Given the description of an element on the screen output the (x, y) to click on. 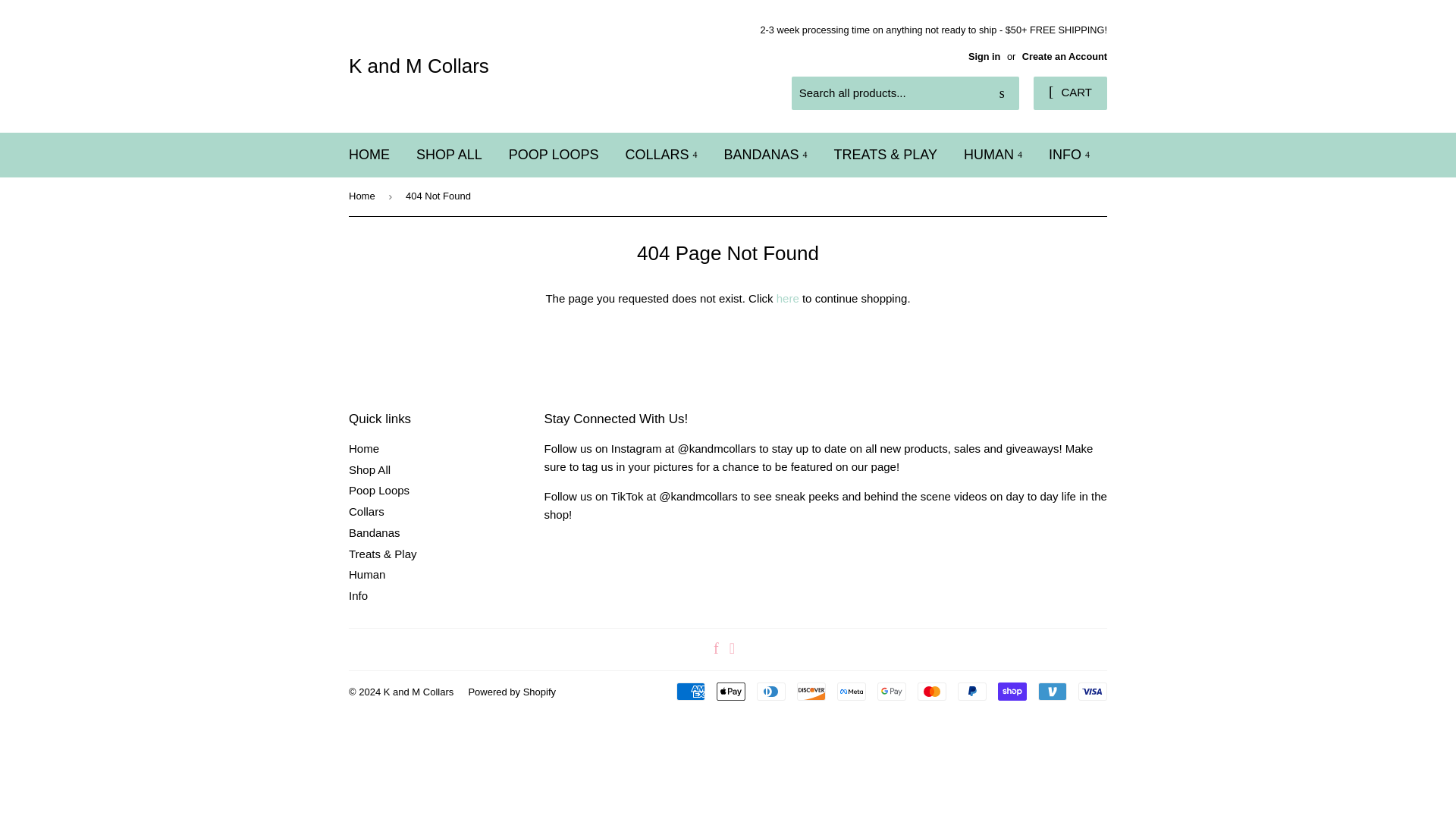
Mastercard (931, 691)
K and M Collars (538, 65)
Shop Pay (1011, 691)
Search (1002, 93)
Meta Pay (851, 691)
Sign in (984, 56)
CART (1069, 92)
Venmo (1052, 691)
Discover (810, 691)
Google Pay (891, 691)
